Given the description of an element on the screen output the (x, y) to click on. 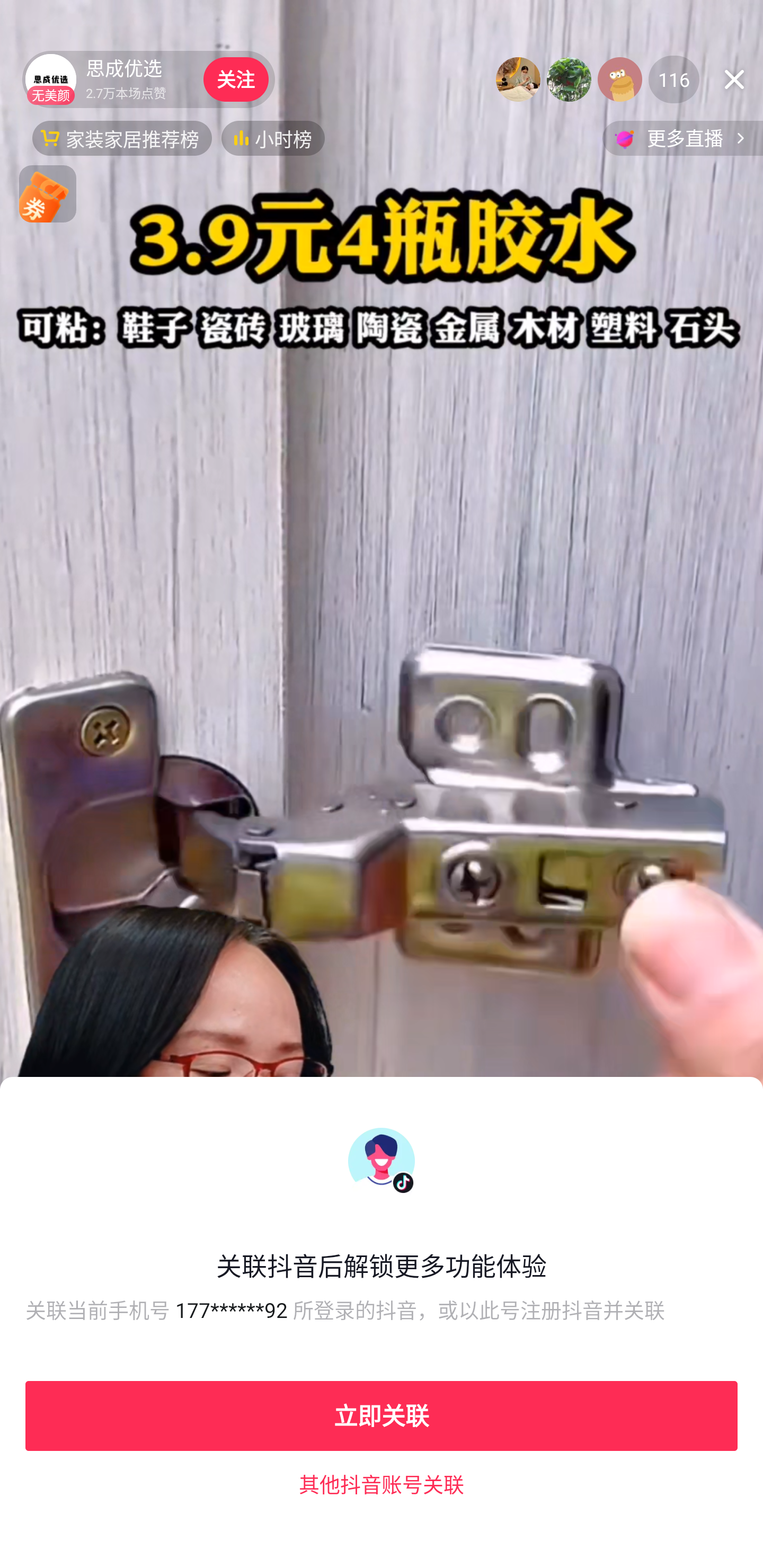
立即关联 (381, 1415)
其他抖音账号关联 (381, 1483)
